Given the description of an element on the screen output the (x, y) to click on. 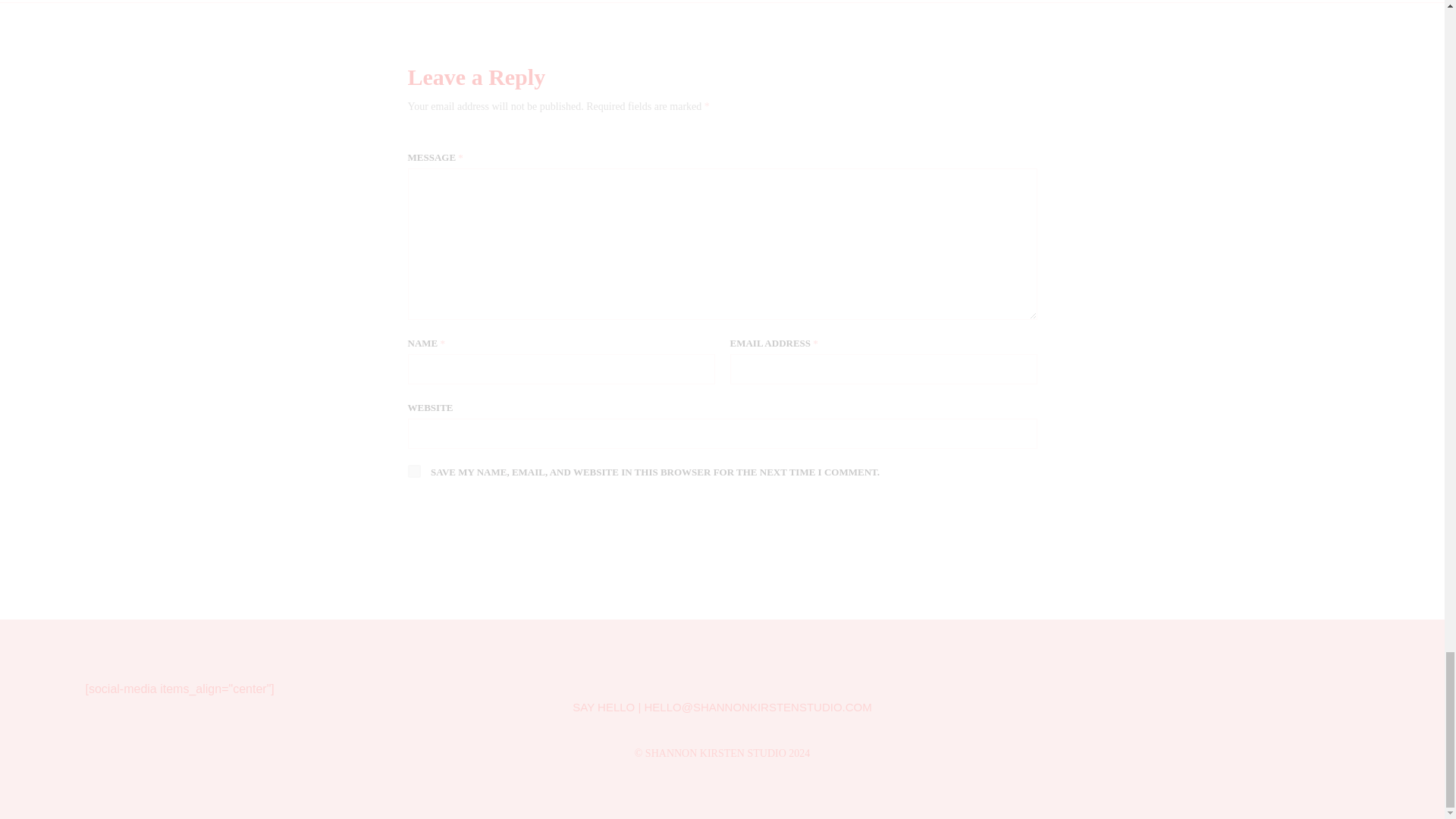
Post Comment (491, 524)
yes (413, 471)
